Given the description of an element on the screen output the (x, y) to click on. 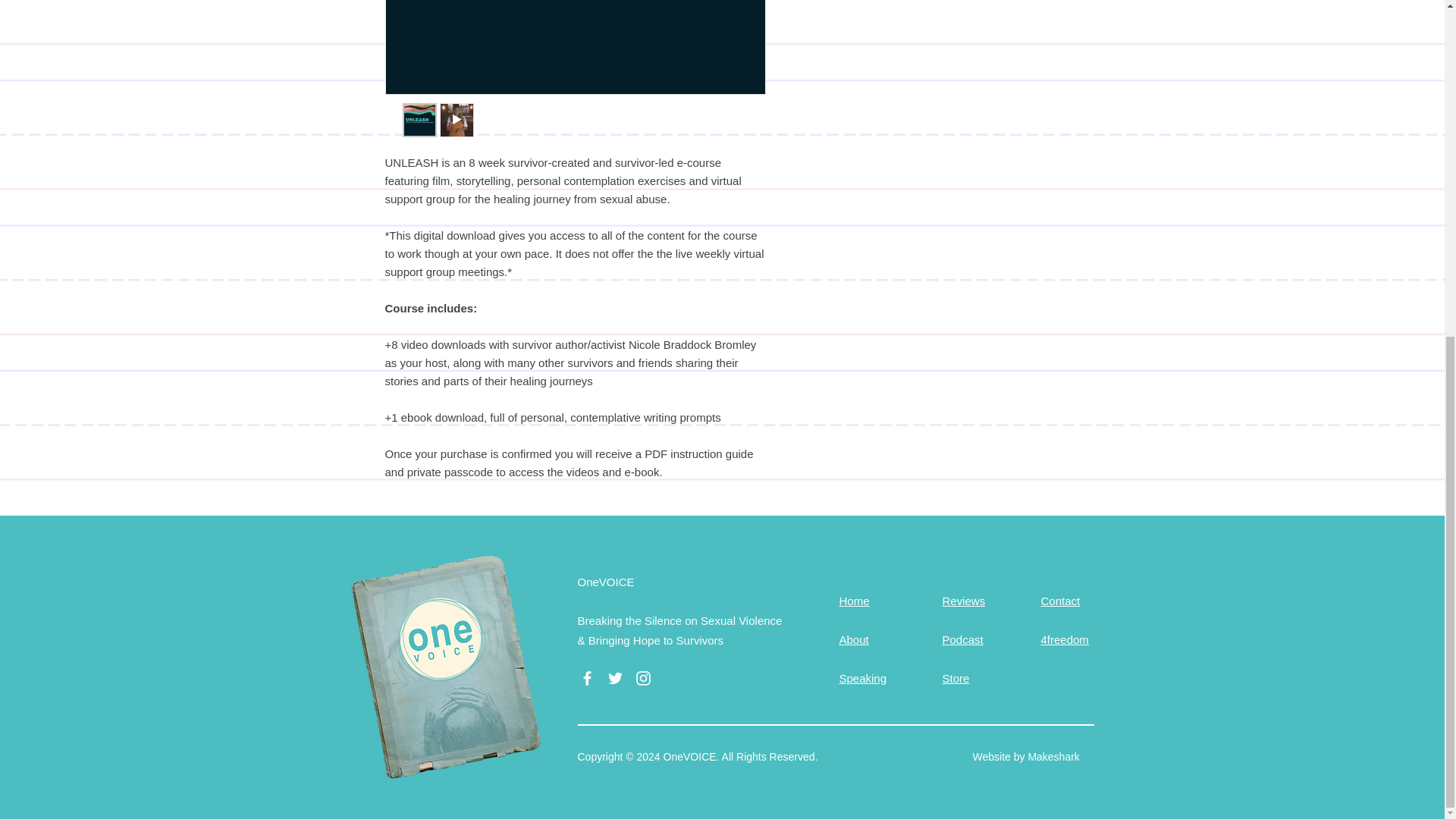
About (852, 639)
Store (955, 677)
Reviews (963, 600)
Contact (1060, 600)
Home (853, 600)
Speaking (862, 677)
Podcast (962, 639)
